Given the description of an element on the screen output the (x, y) to click on. 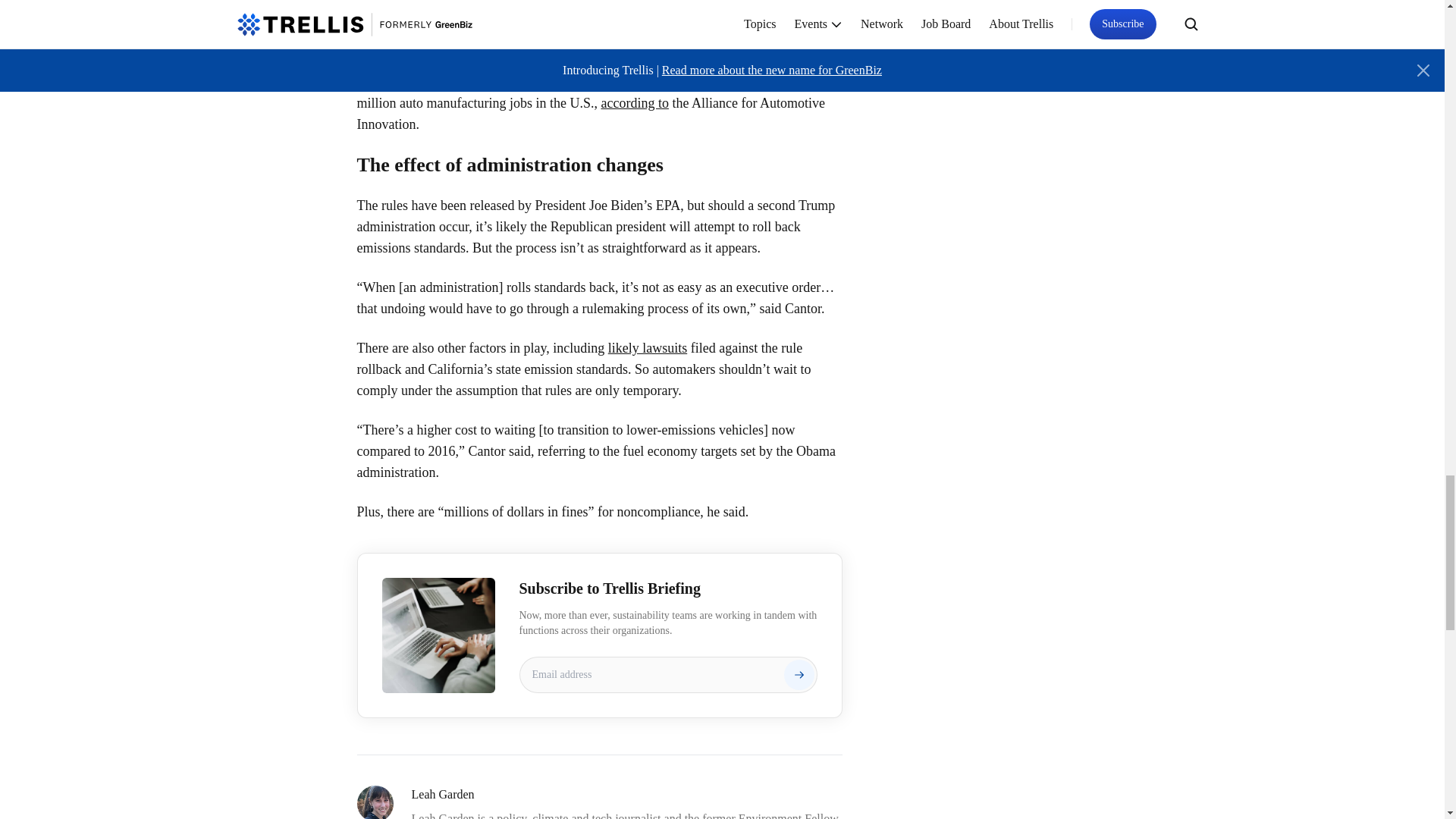
likely lawsuits (647, 347)
Subscribe (798, 675)
according to (633, 102)
